Given the description of an element on the screen output the (x, y) to click on. 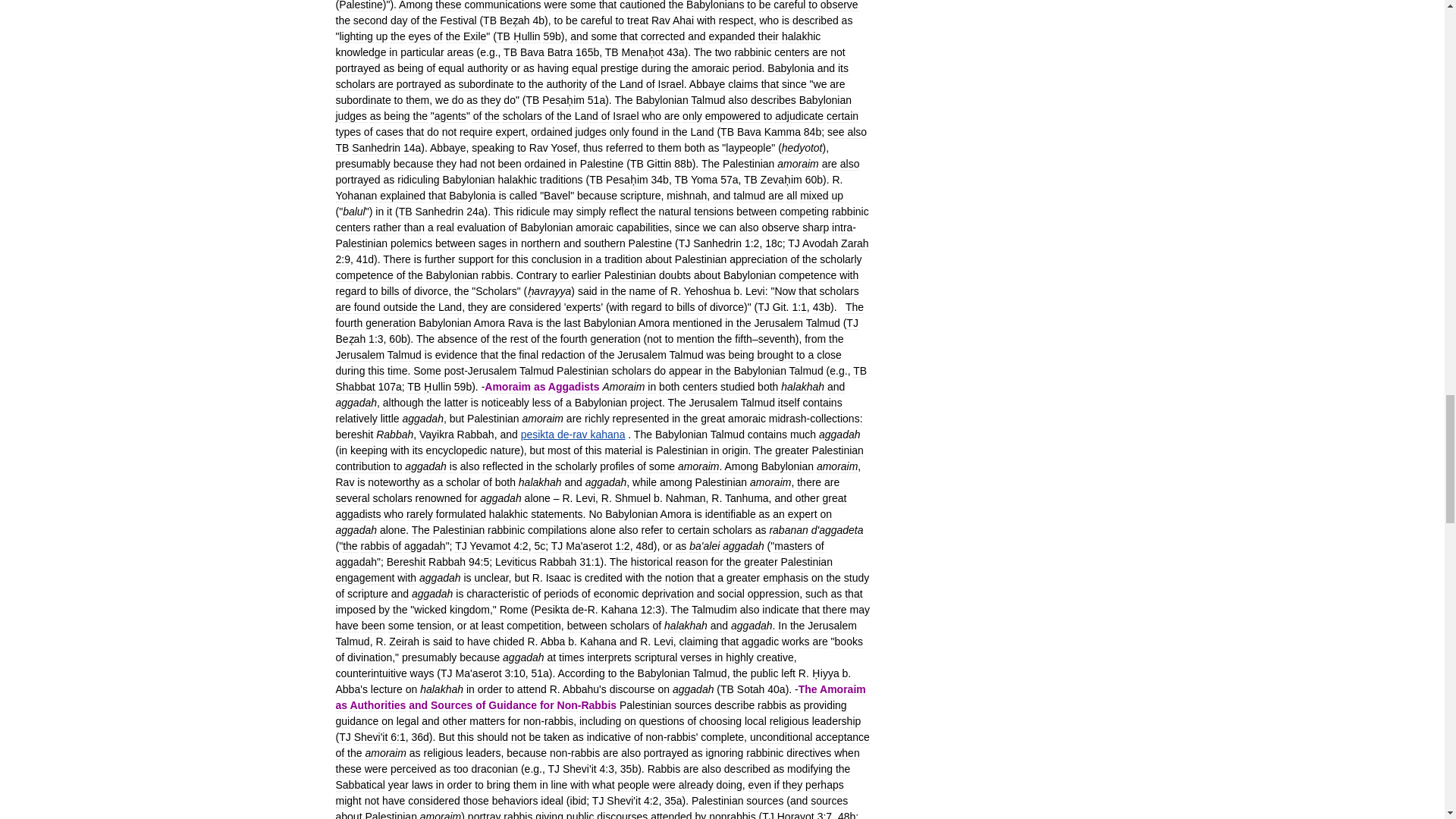
pesikta de-rav kahana (573, 434)
